Given the description of an element on the screen output the (x, y) to click on. 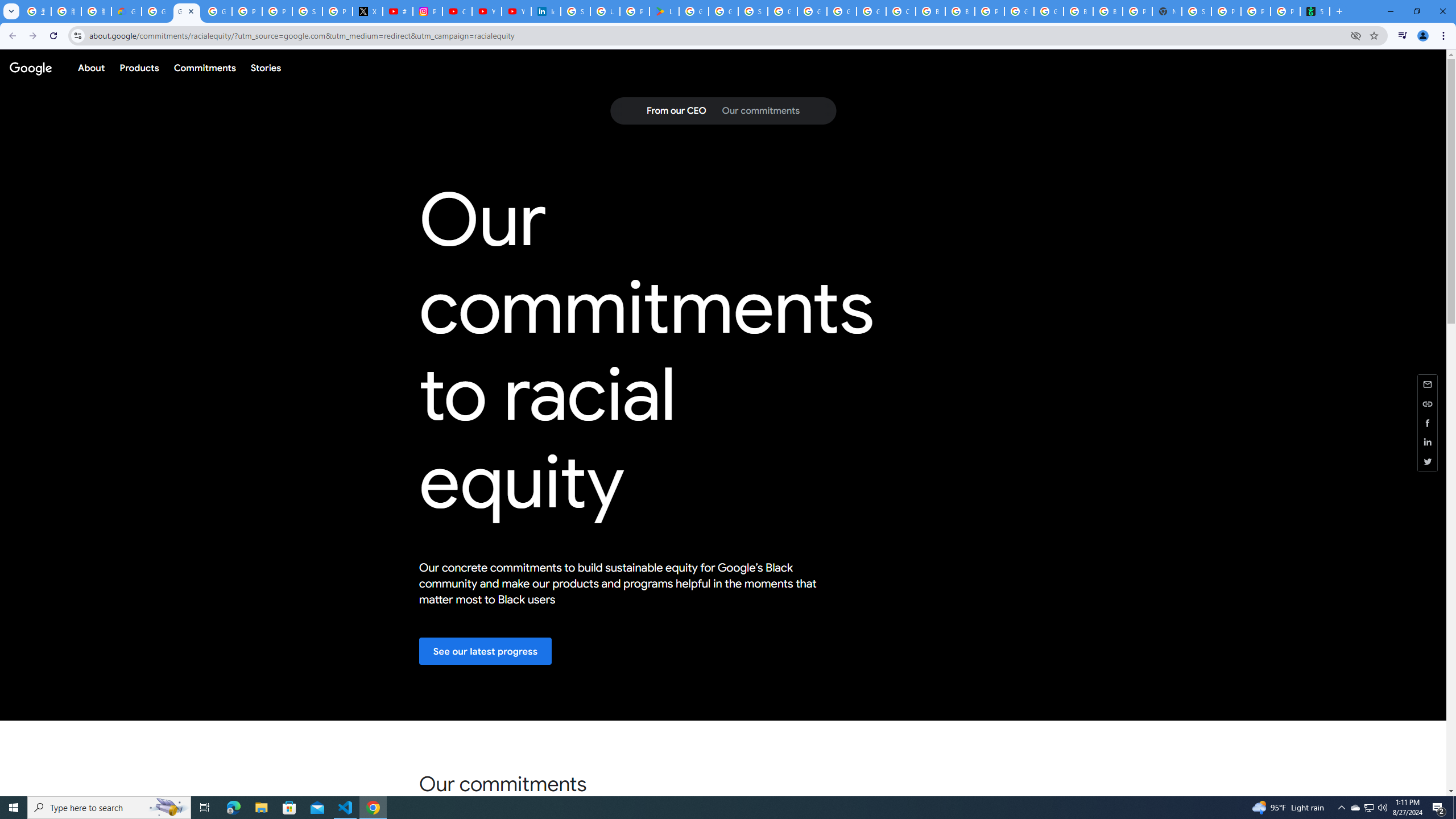
Share this page (Copy) (1427, 403)
Share this page (Twitter) (1427, 461)
Stories (265, 67)
New Tab (1166, 11)
Privacy Help Center - Policies Help (277, 11)
Sign in - Google Accounts (306, 11)
Share this page (Email) (1427, 383)
